Given the description of an element on the screen output the (x, y) to click on. 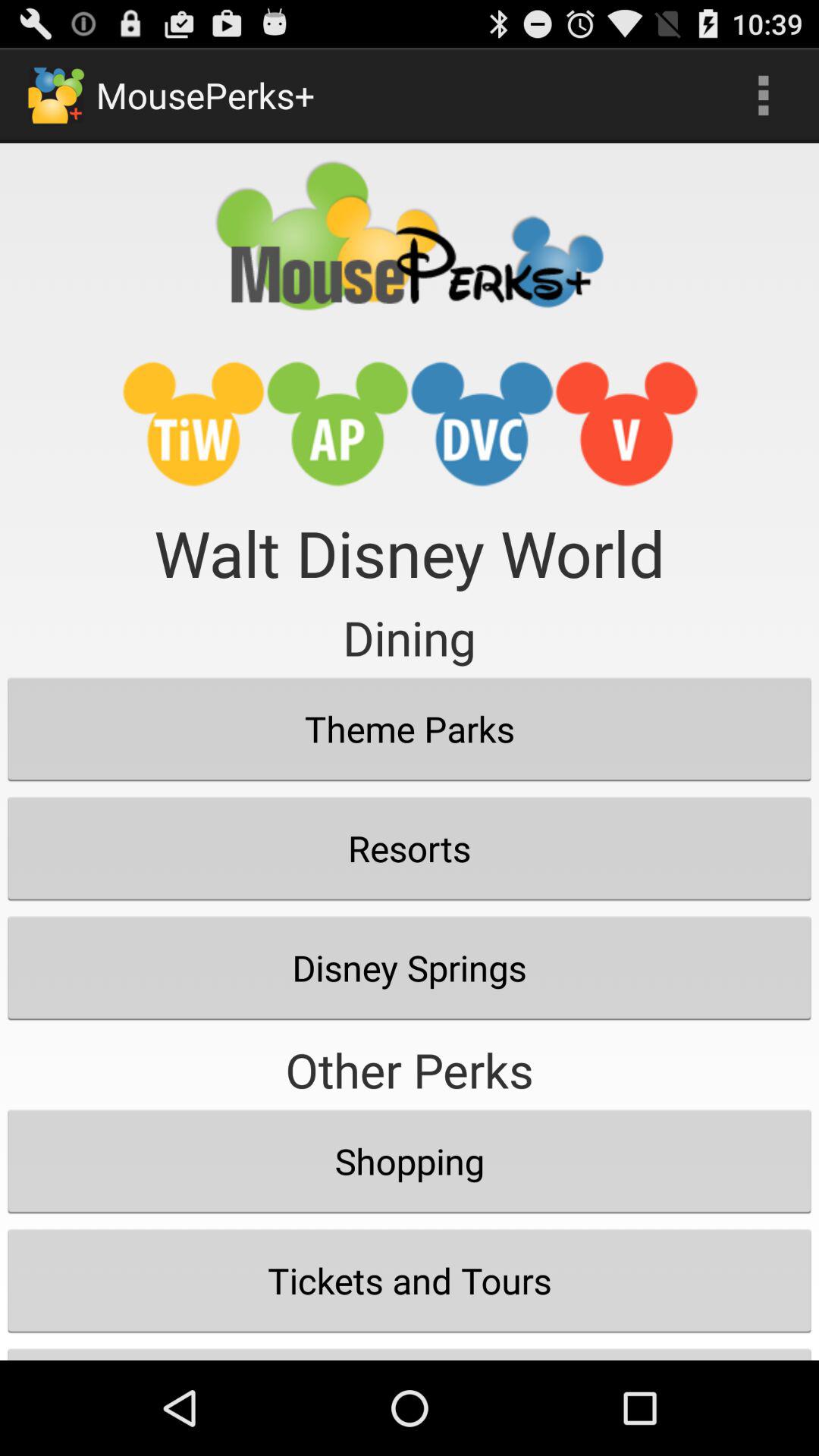
choose the recreation and relaxation item (409, 1350)
